Given the description of an element on the screen output the (x, y) to click on. 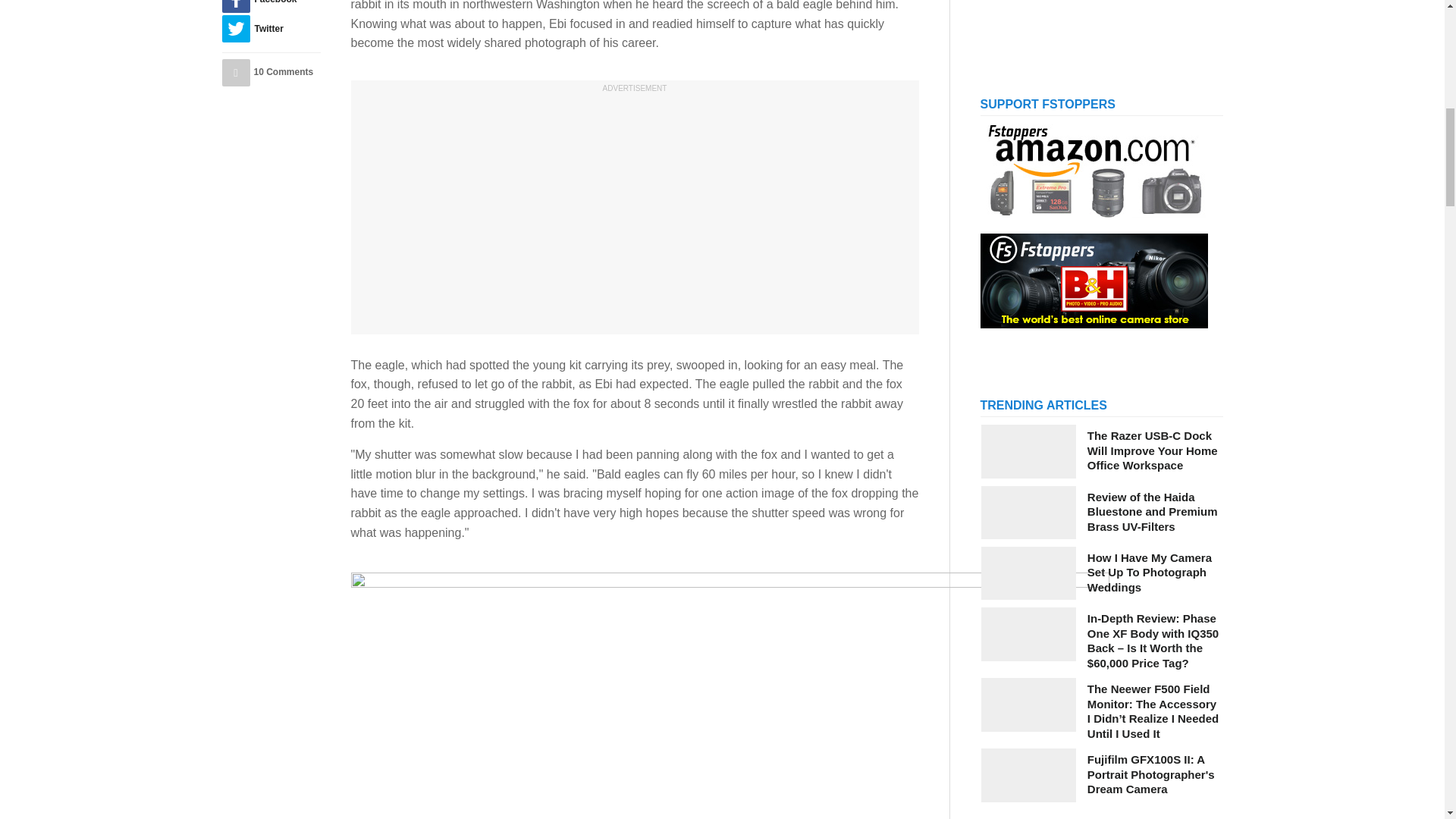
10 Comments (270, 72)
Share on Facebook (270, 6)
